Given the description of an element on the screen output the (x, y) to click on. 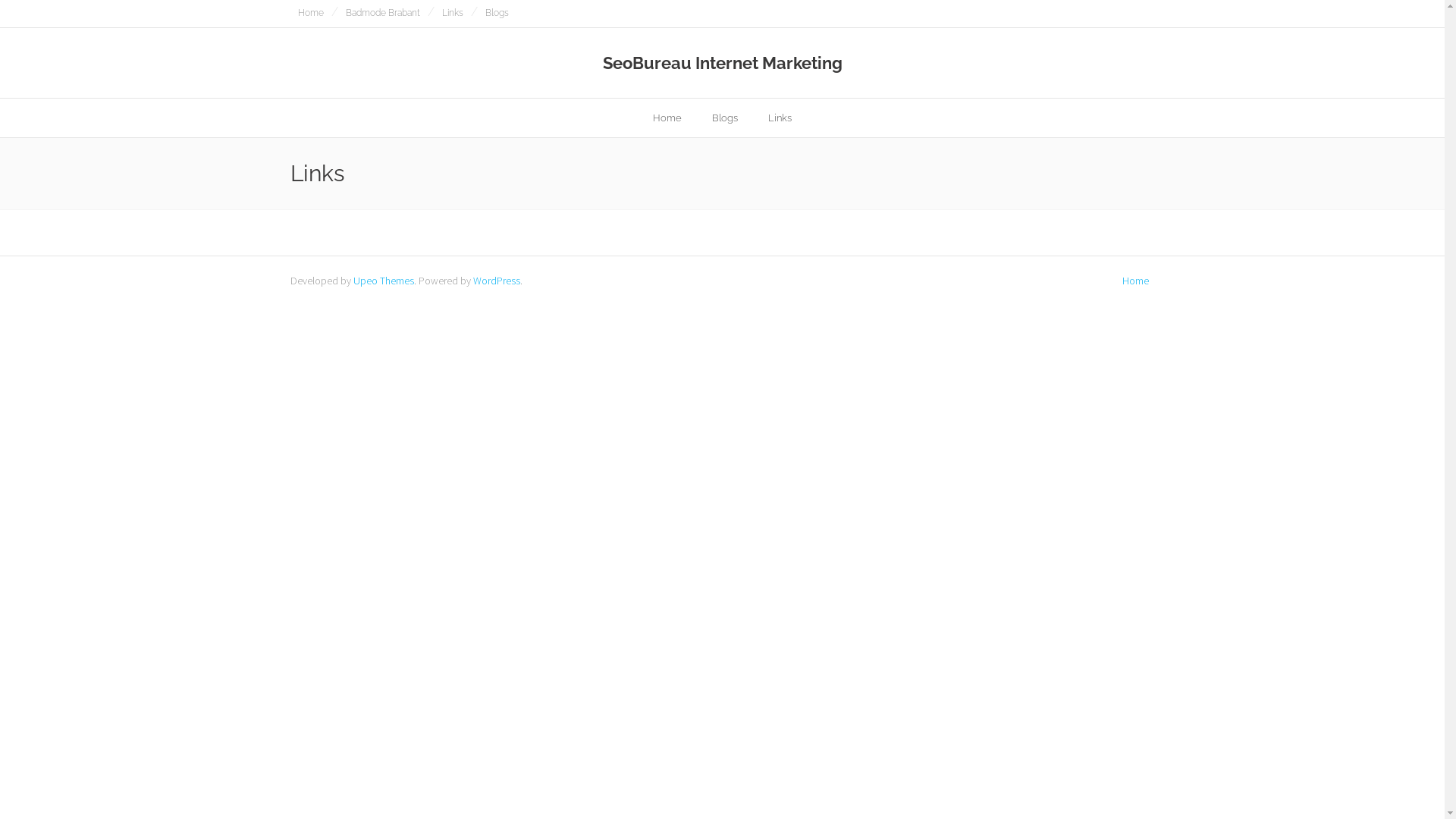
Links Element type: text (451, 13)
Blogs Element type: text (496, 13)
Blogs Element type: text (724, 117)
Badmode Brabant Element type: text (382, 13)
WordPress Element type: text (496, 280)
Upeo Themes Element type: text (383, 280)
Links Element type: text (779, 117)
Home Element type: text (1135, 280)
Home Element type: text (666, 117)
Home Element type: text (309, 13)
SeoBureau Internet Marketing Element type: text (722, 62)
